Given the description of an element on the screen output the (x, y) to click on. 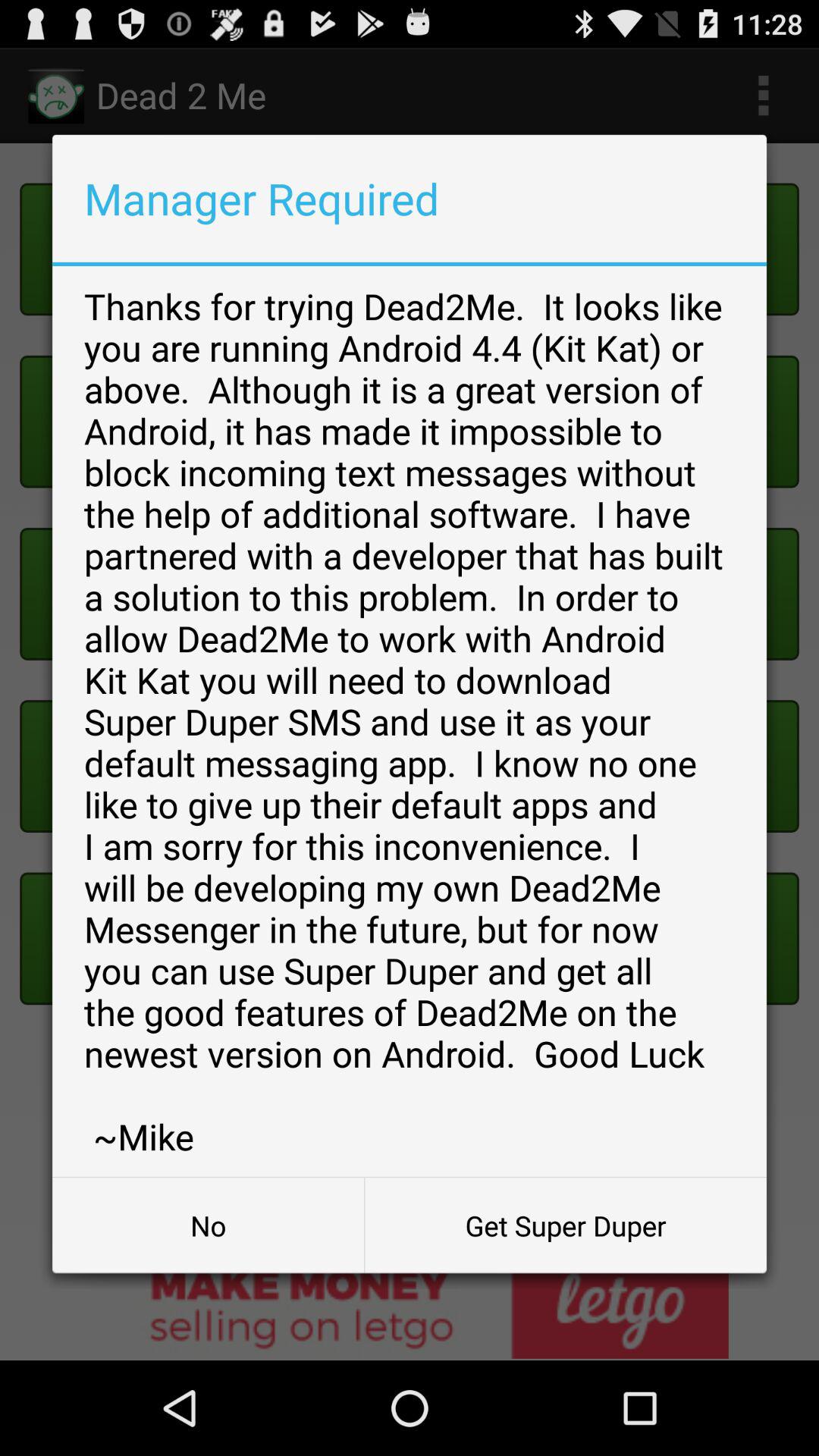
choose the no (208, 1225)
